Given the description of an element on the screen output the (x, y) to click on. 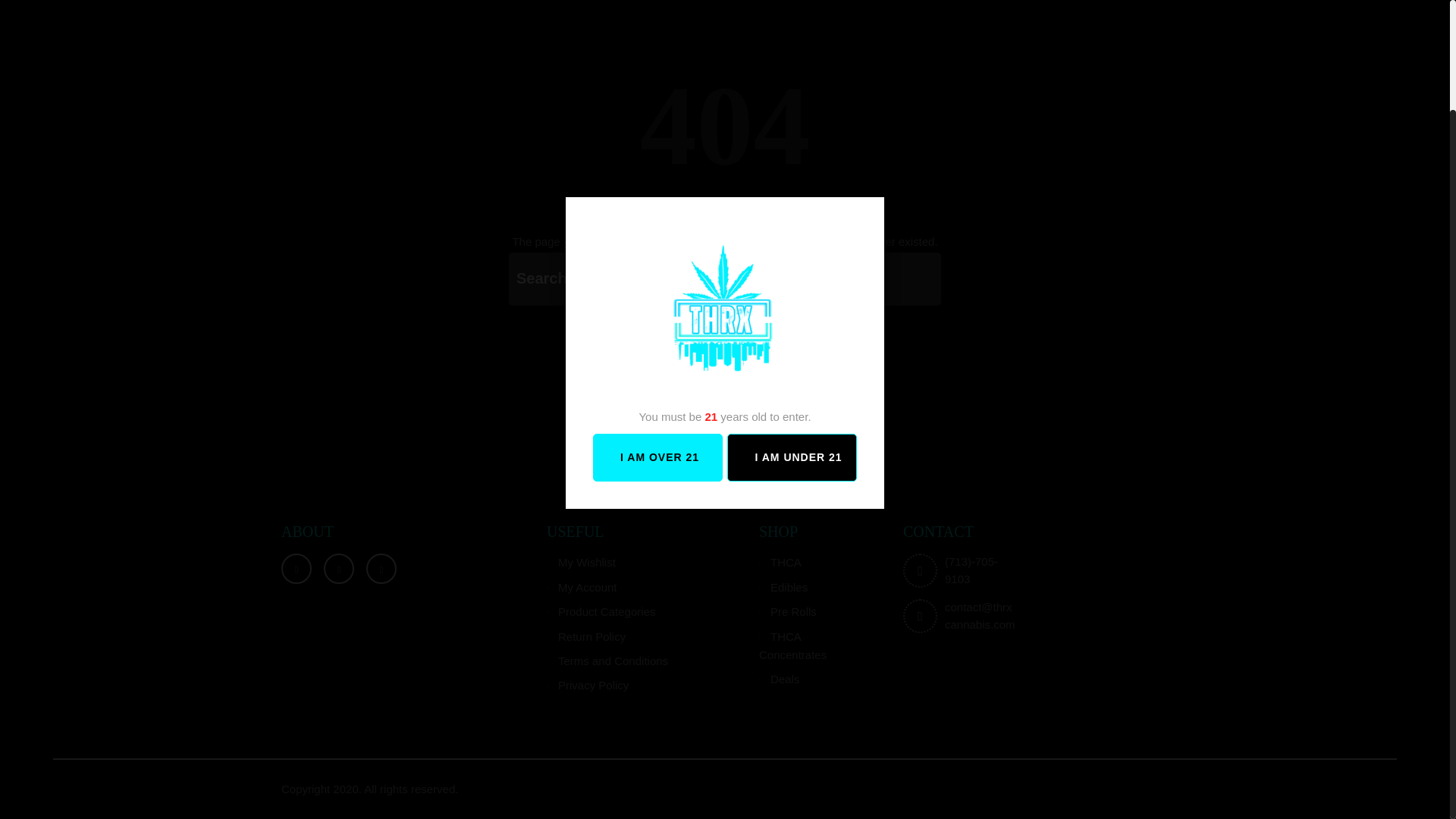
My Account (582, 586)
Deals (778, 678)
I AM UNDER 21 (791, 329)
Pre Rolls (787, 611)
Product Categories (601, 611)
GO TO HOMEPAGE (724, 366)
THCA Concentrates (792, 644)
I AM OVER 21 (657, 329)
Subscribe (724, 278)
Return Policy (586, 635)
Submit (724, 278)
My Wishlist (581, 562)
THCA (780, 562)
Privacy Policy (587, 684)
Edibles (783, 586)
